Given the description of an element on the screen output the (x, y) to click on. 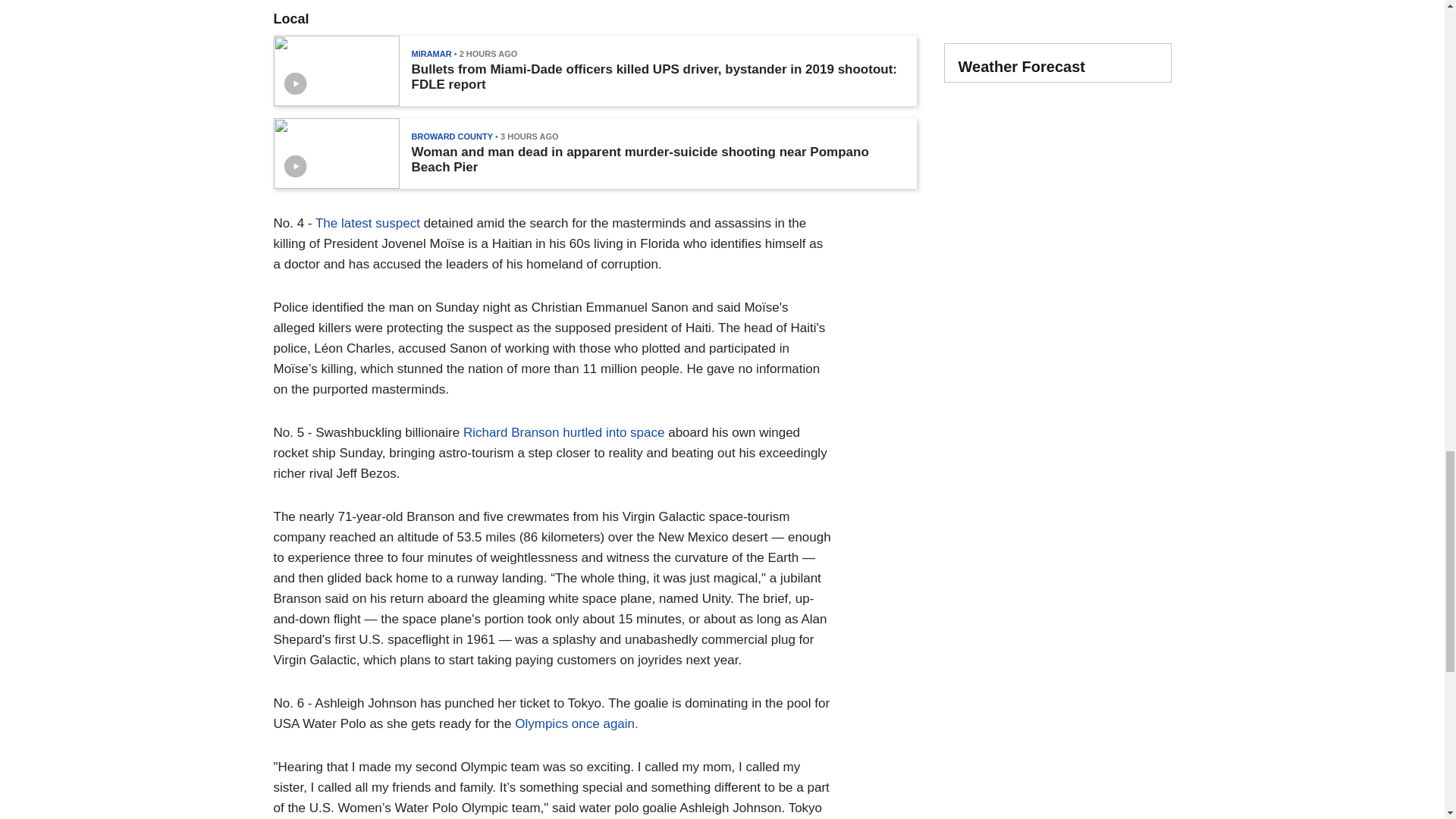
BROWARD COUNTY (451, 135)
The latest suspect (367, 223)
MIRAMAR (430, 53)
